Given the description of an element on the screen output the (x, y) to click on. 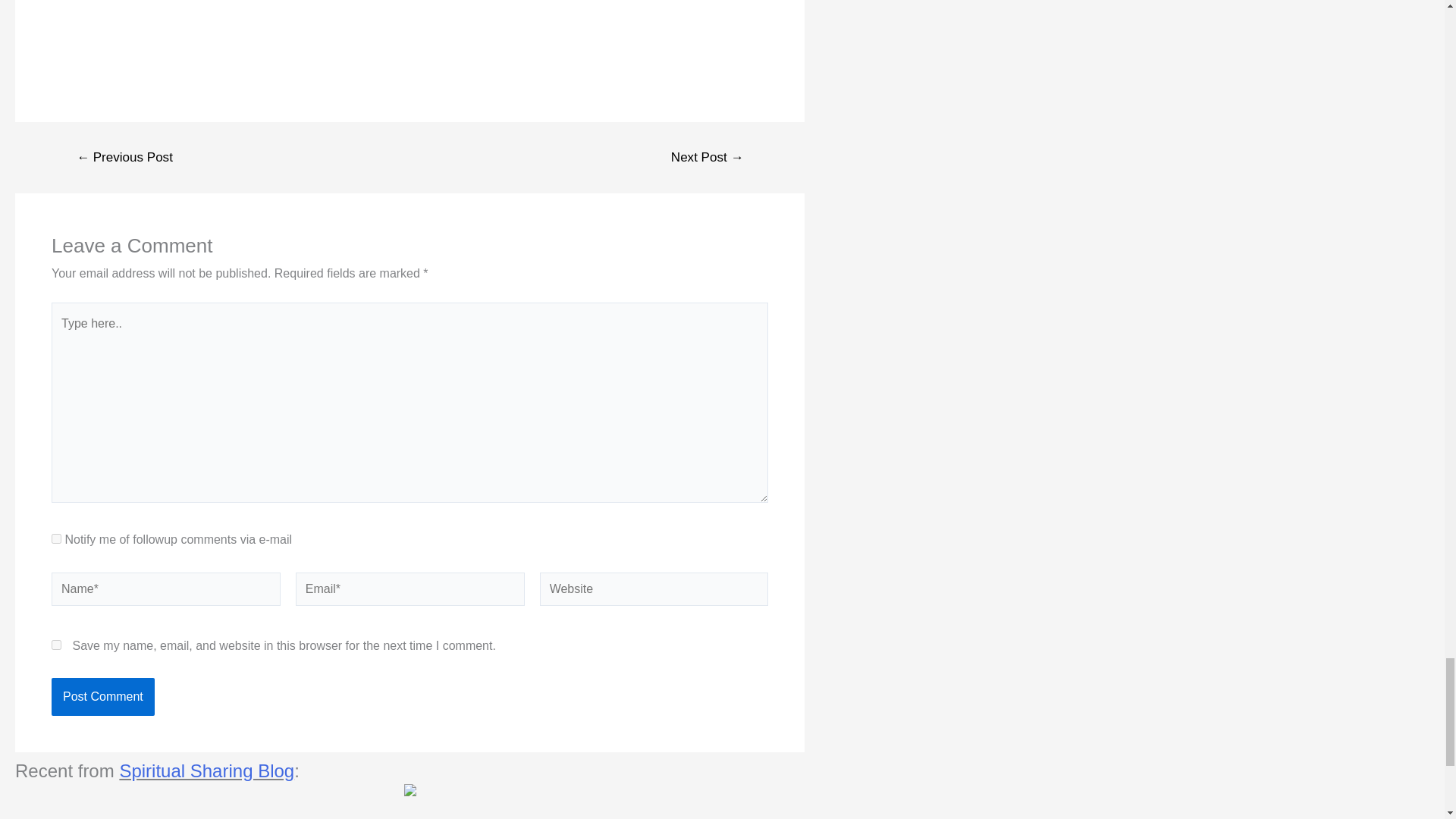
yes (55, 644)
subscribe (55, 538)
Post Comment (102, 696)
Spiritual Sharing Blog (206, 770)
Post Comment (102, 696)
